Given the description of an element on the screen output the (x, y) to click on. 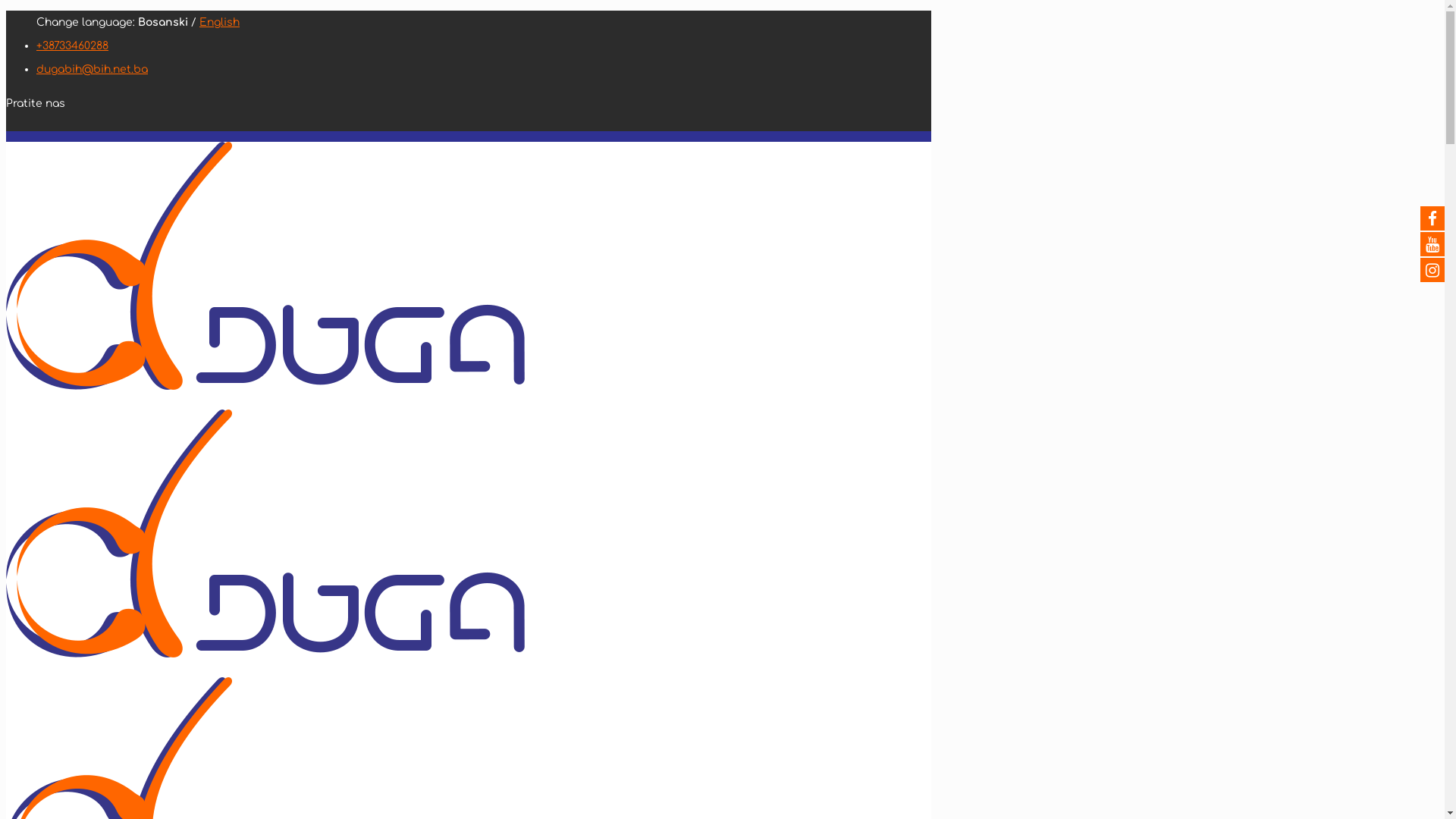
English Element type: text (219, 22)
+38733460288 Element type: text (72, 45)
dugabih@bih.net.ba Element type: text (91, 69)
